Given the description of an element on the screen output the (x, y) to click on. 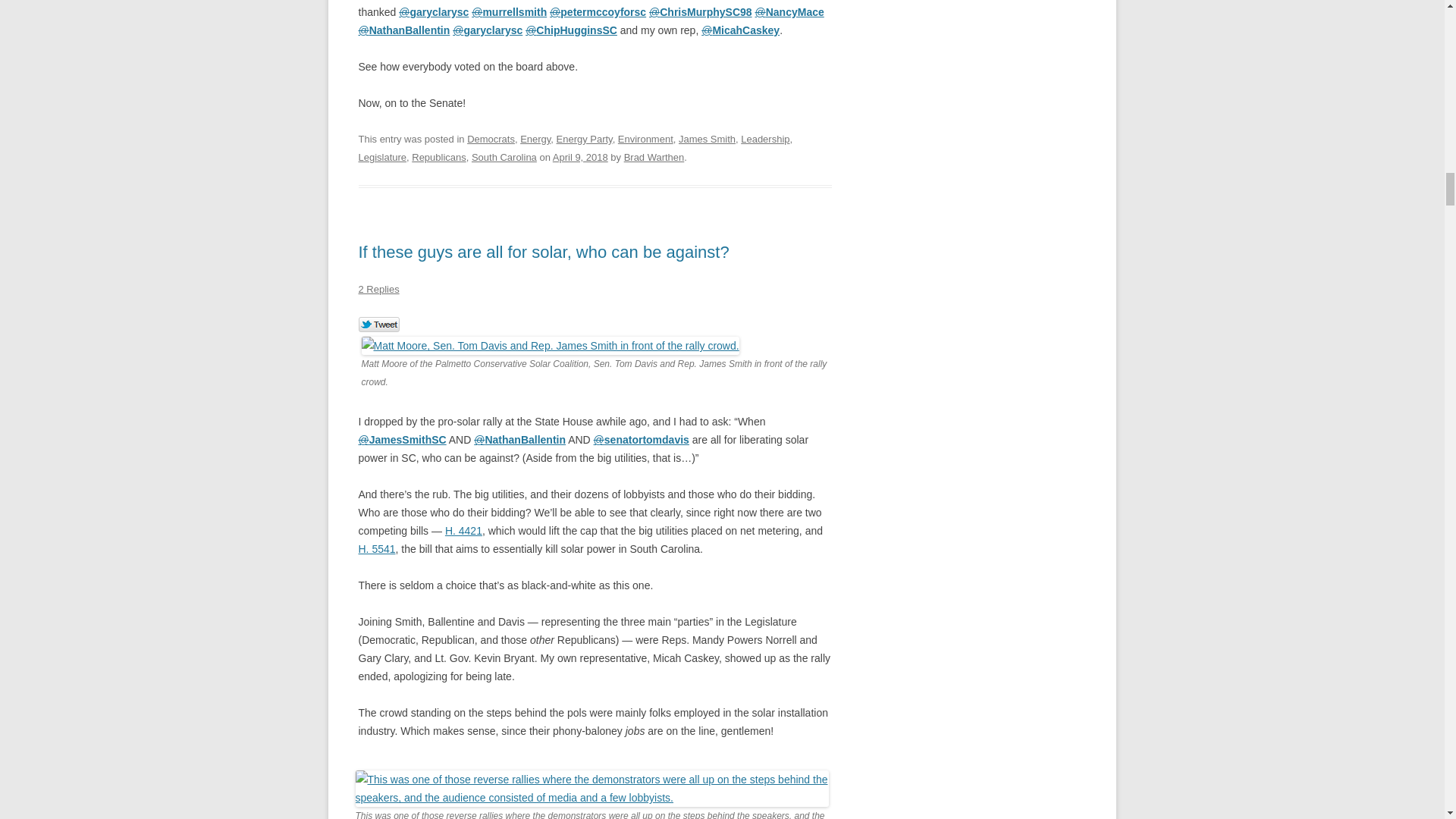
3:12 pm (580, 156)
View all posts by Brad Warthen (654, 156)
